Given the description of an element on the screen output the (x, y) to click on. 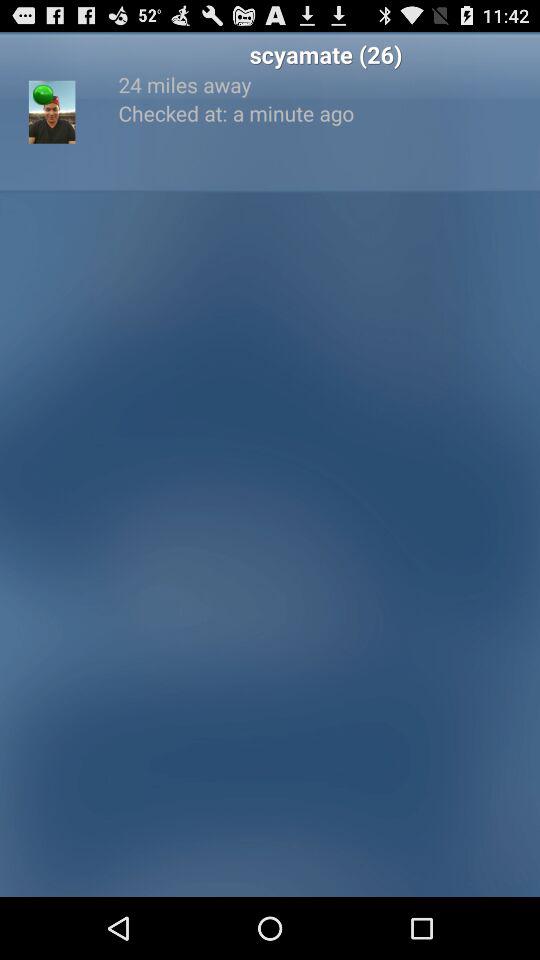
choose the item next to 24 miles away (43, 94)
